Given the description of an element on the screen output the (x, y) to click on. 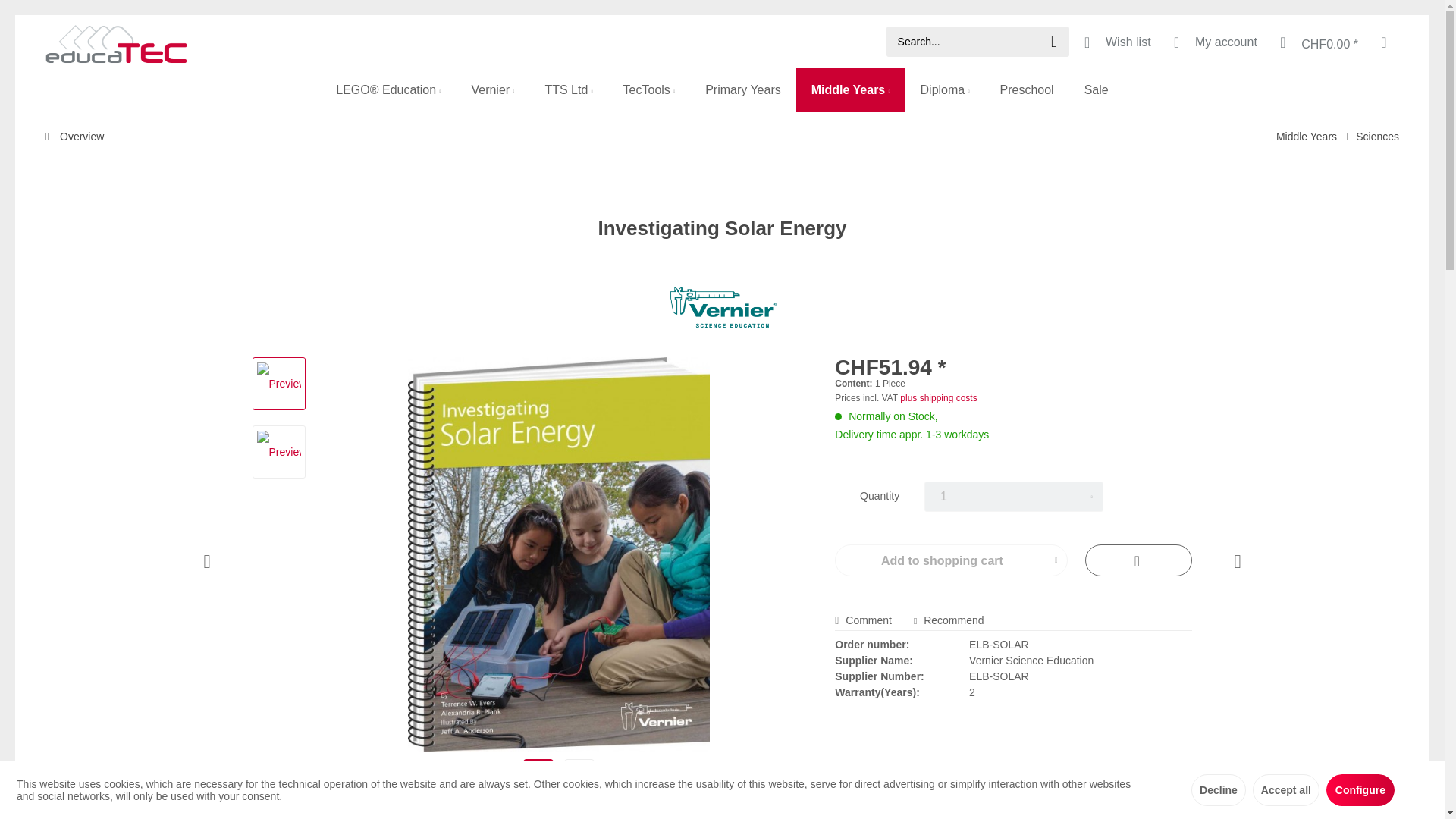
EducaTec AG - Switch to homepage (116, 41)
Vernier (492, 89)
Wish list (1114, 41)
Diploma (945, 89)
My account (1213, 41)
Wish list (1114, 41)
TecTools (649, 89)
Sale (1096, 89)
Middle Years (850, 89)
Preschool (1026, 89)
My account (1213, 41)
Primary Years (743, 89)
TTS Ltd (568, 89)
